Given the description of an element on the screen output the (x, y) to click on. 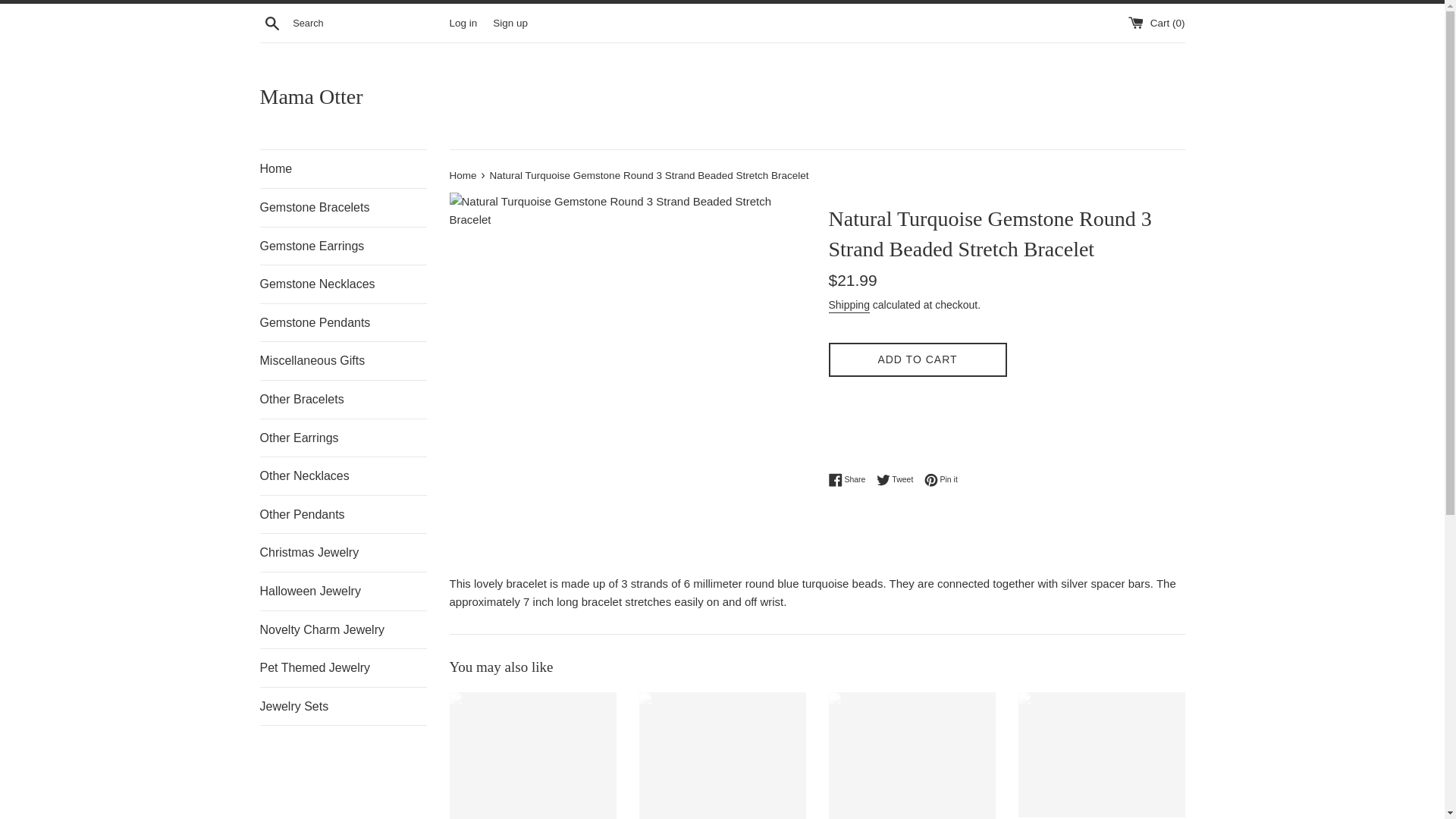
Pin on Pinterest (941, 479)
Back to the frontpage (463, 174)
Gemstone Pendants (342, 322)
Jewelry Sets (342, 706)
Search (271, 21)
Sign up (510, 21)
Gemstone Bracelets (342, 207)
Other Earrings (342, 438)
ADD TO CART (898, 479)
Christmas Jewelry (917, 359)
Shipping (342, 552)
Natural Rose Quartz Gemstone Snake Beaded Stretch Bracelet (848, 305)
